Given the description of an element on the screen output the (x, y) to click on. 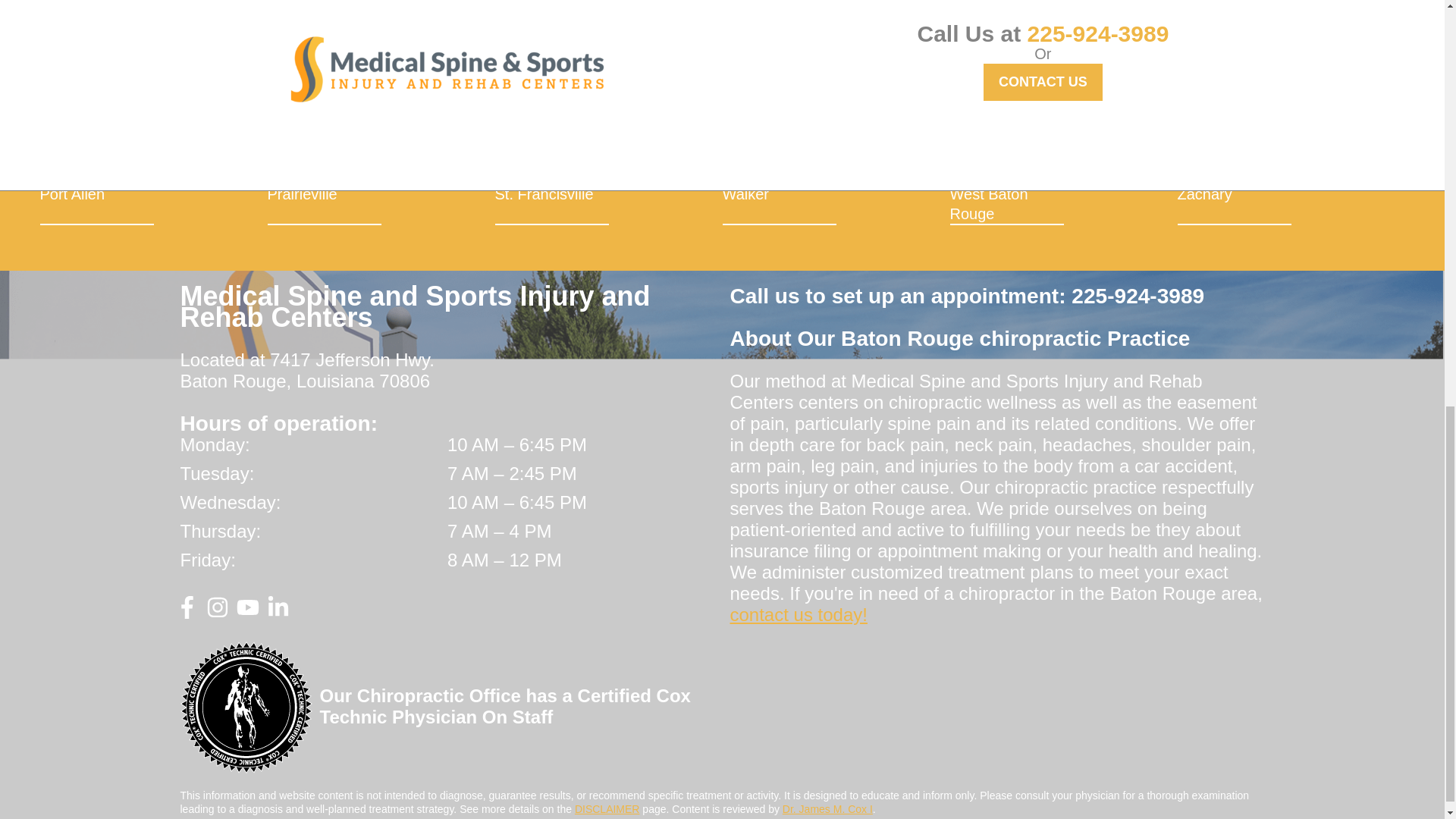
Like us on Facebook (187, 613)
Subscribe to us on YouTube (247, 613)
Connect with us on LinkedIn (277, 613)
Follow us on Instagram (217, 613)
